Given the description of an element on the screen output the (x, y) to click on. 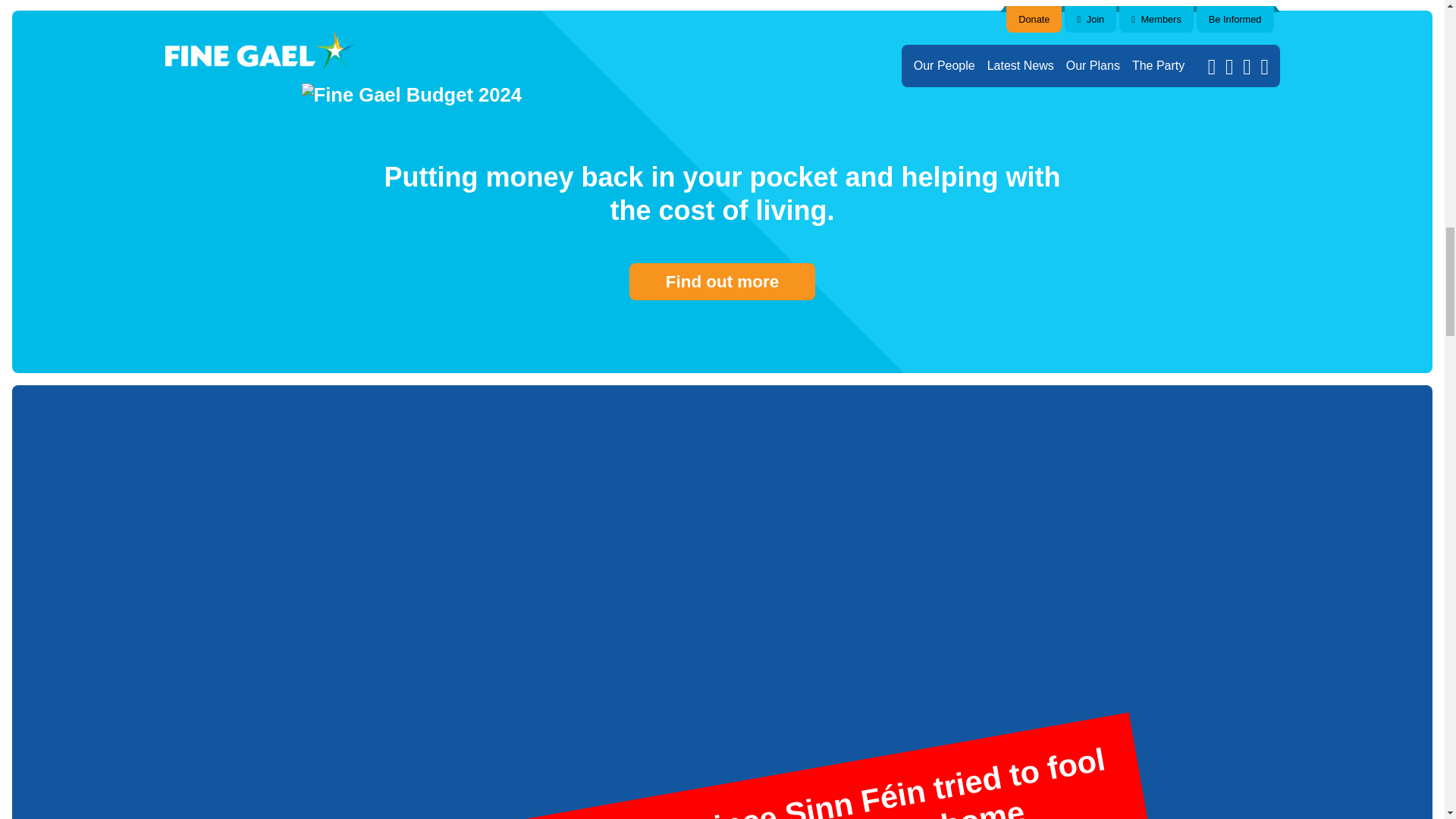
Find out more (721, 281)
